Given the description of an element on the screen output the (x, y) to click on. 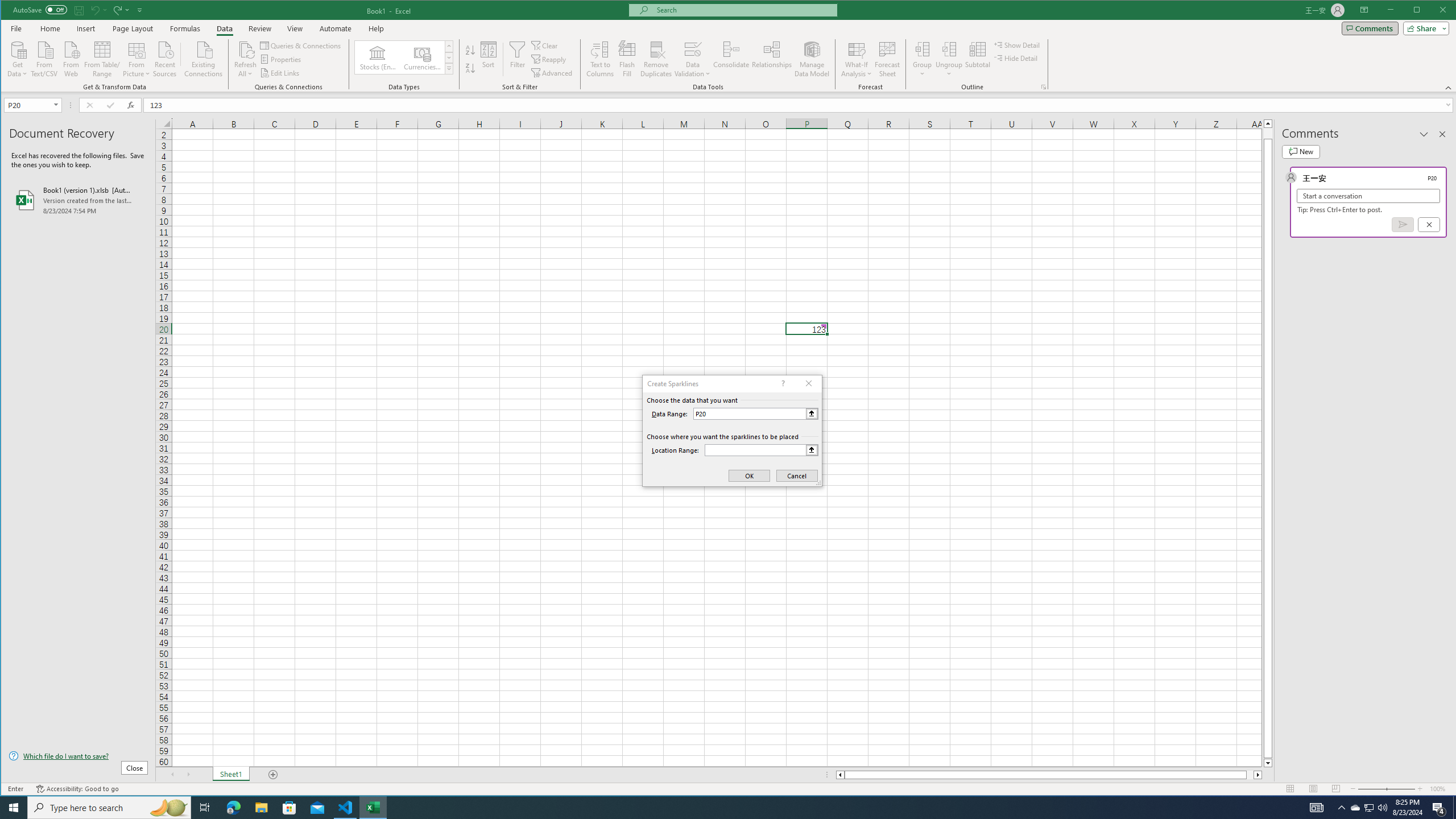
Comments (1369, 28)
Page right (1249, 774)
What-If Analysis (856, 59)
